Given the description of an element on the screen output the (x, y) to click on. 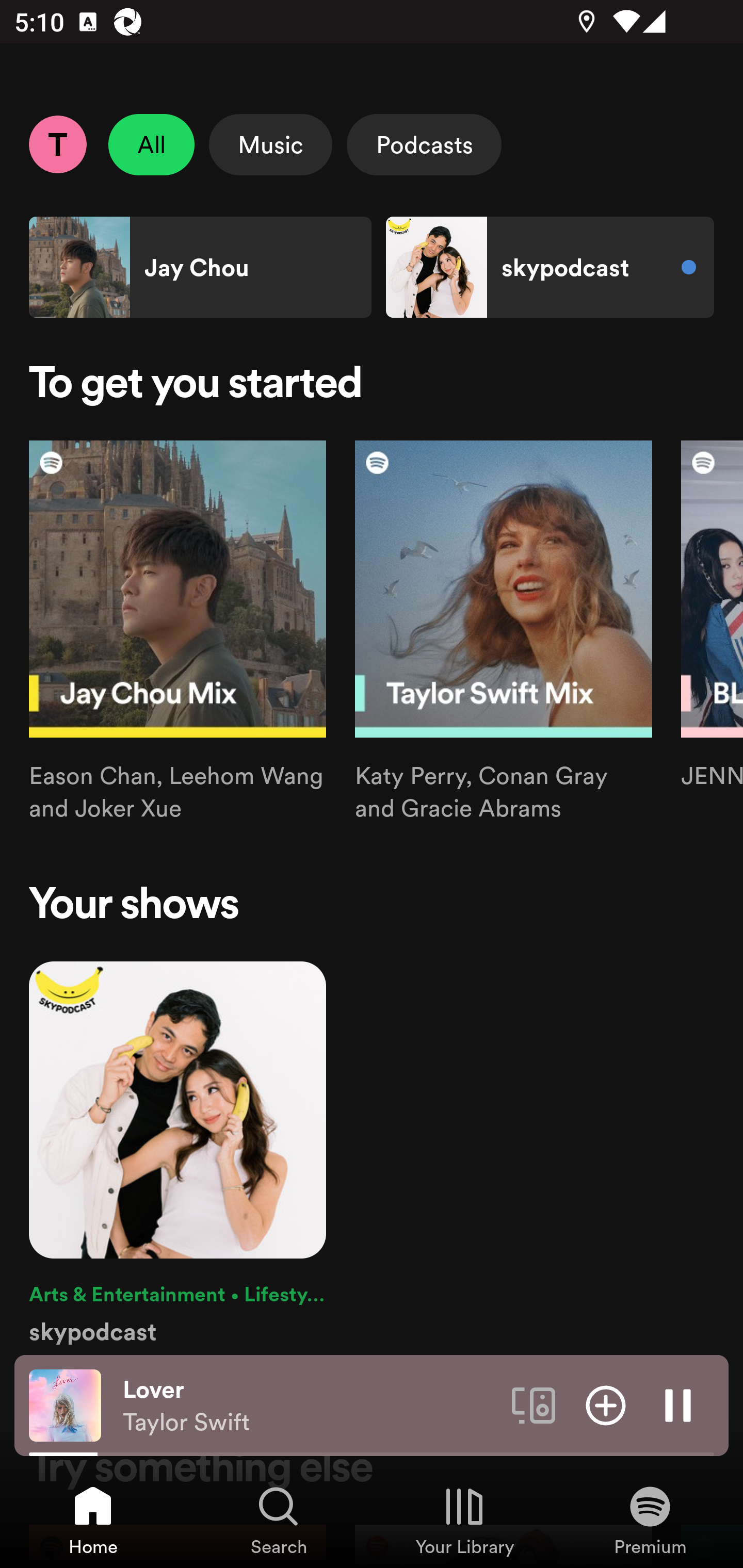
Profile (57, 144)
All Unselect All (151, 144)
Music Select Music (270, 144)
Podcasts Select Podcasts (423, 144)
Jay Chou Shortcut Jay Chou (199, 267)
skypodcast Shortcut skypodcast New content (549, 267)
Lover Taylor Swift (309, 1405)
The cover art of the currently playing track (64, 1404)
Connect to a device. Opens the devices menu (533, 1404)
Add item (605, 1404)
Pause (677, 1404)
Home, Tab 1 of 4 Home Home (92, 1519)
Search, Tab 2 of 4 Search Search (278, 1519)
Your Library, Tab 3 of 4 Your Library Your Library (464, 1519)
Premium, Tab 4 of 4 Premium Premium (650, 1519)
